Given the description of an element on the screen output the (x, y) to click on. 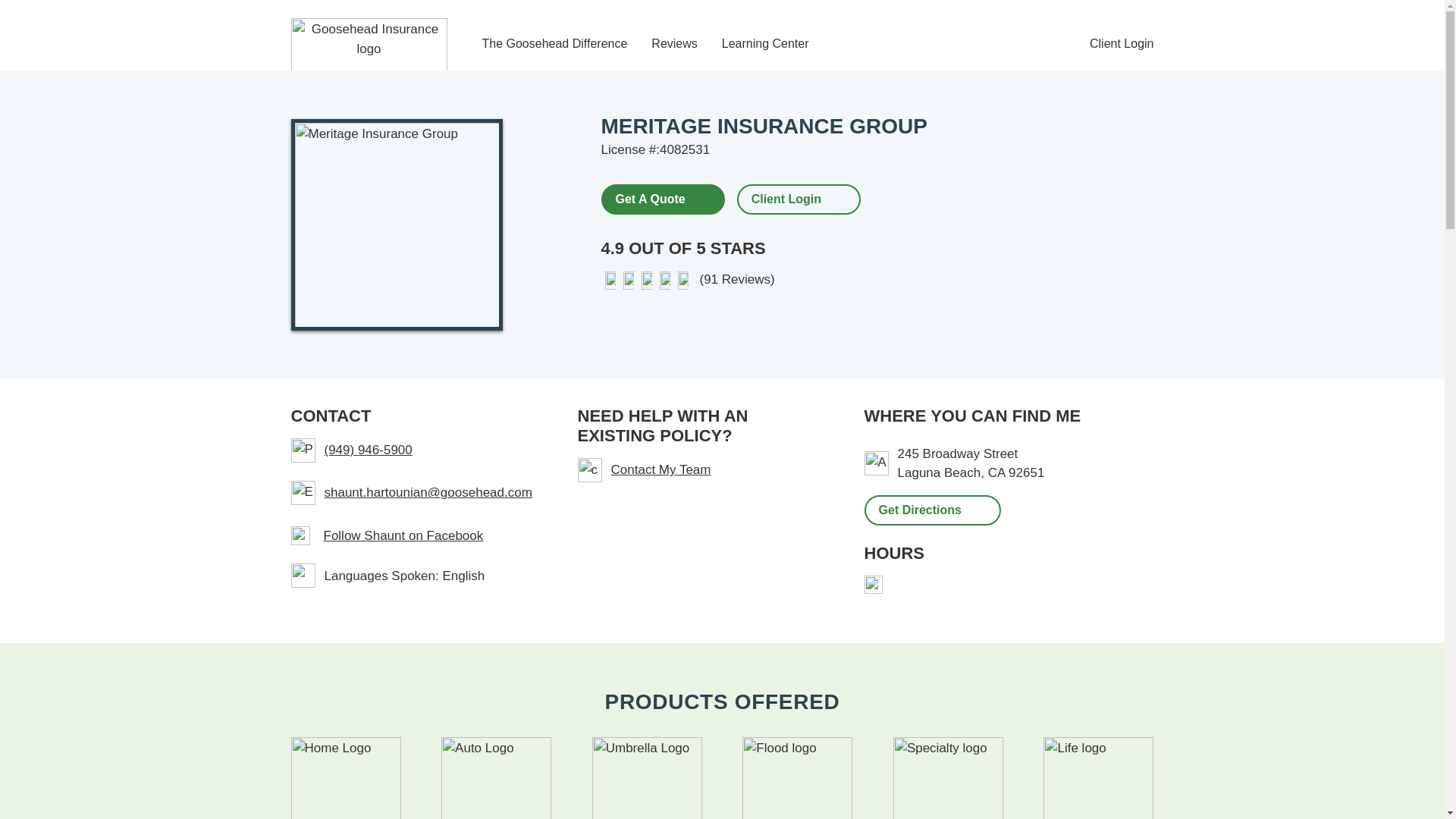
The Goosehead Difference (554, 44)
HOME (346, 778)
Client Login (786, 198)
FLOOD (796, 778)
California (997, 472)
SPECIALTY (948, 778)
Client Login (1121, 44)
AUTO (496, 778)
LIFE (1098, 778)
Contact My Team (703, 469)
UMBRELLA (646, 778)
Get Directions (932, 510)
Reviews (673, 44)
Learning Center (765, 44)
